Given the description of an element on the screen output the (x, y) to click on. 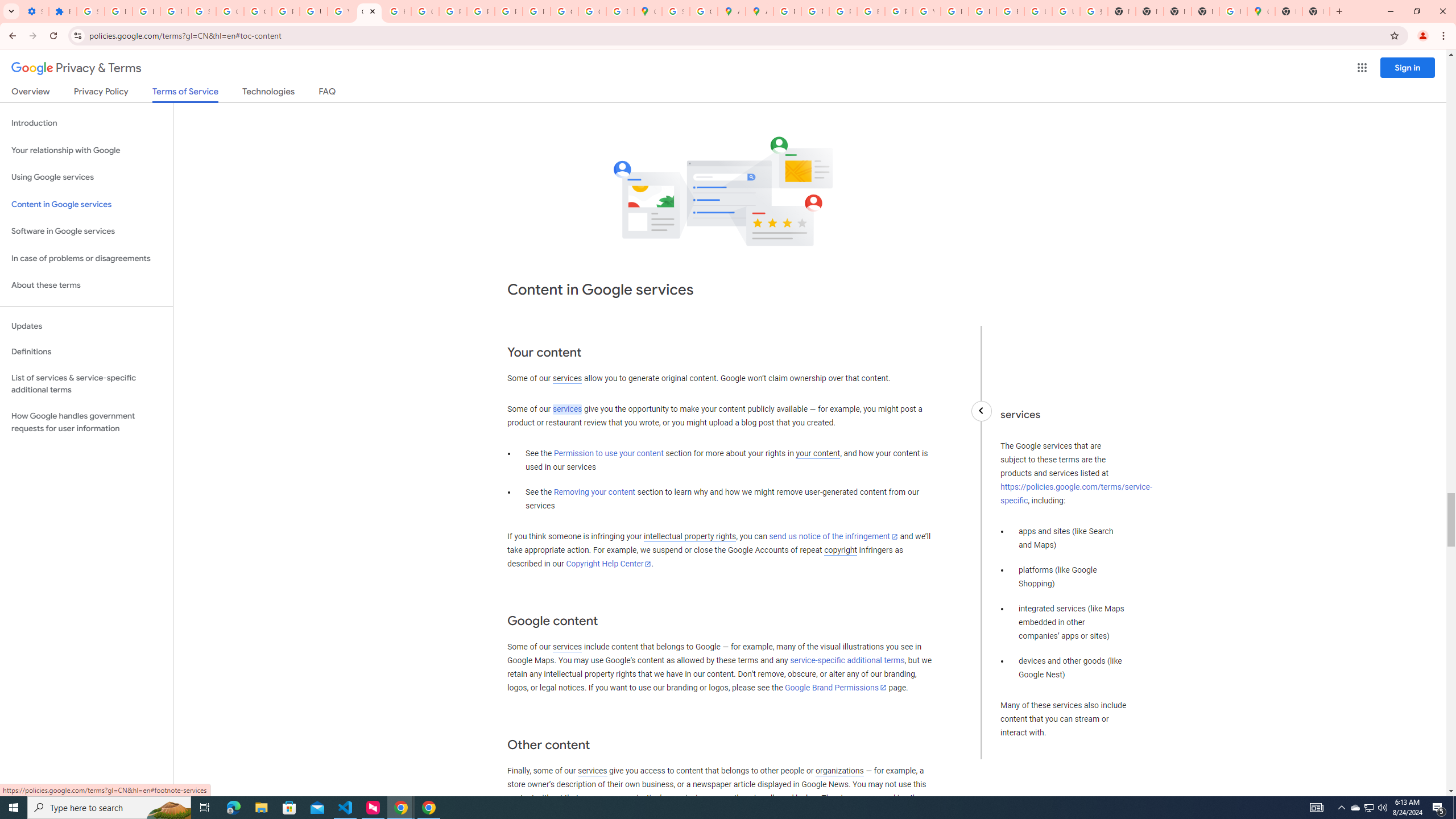
Extensions (62, 11)
Using Google services (86, 176)
Terms of Service (184, 94)
Privacy Help Center - Policies Help (815, 11)
Sign in - Google Accounts (675, 11)
New Tab (1288, 11)
YouTube (926, 11)
